Given the description of an element on the screen output the (x, y) to click on. 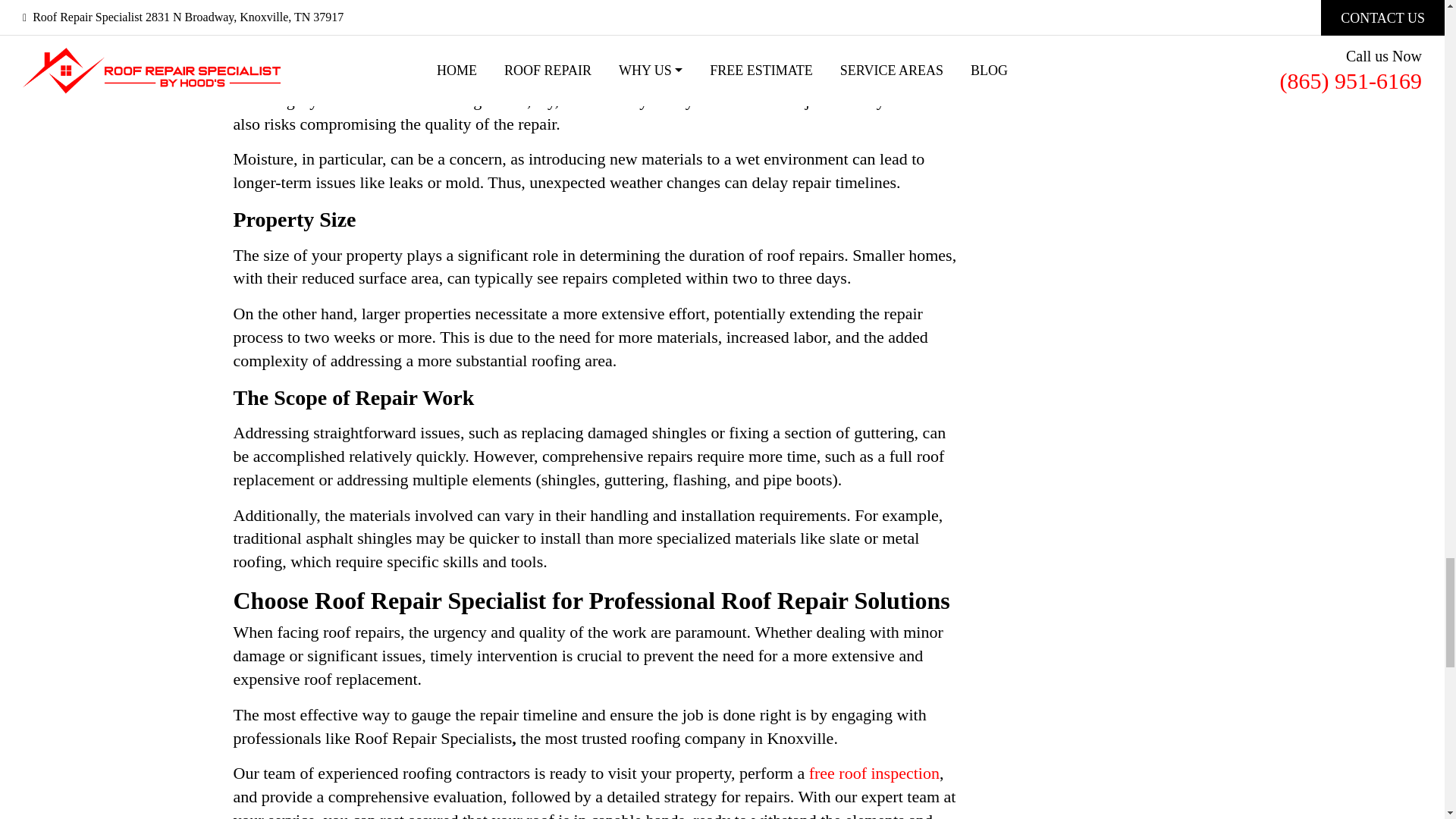
roofers (343, 76)
free roof inspection (874, 772)
